Given the description of an element on the screen output the (x, y) to click on. 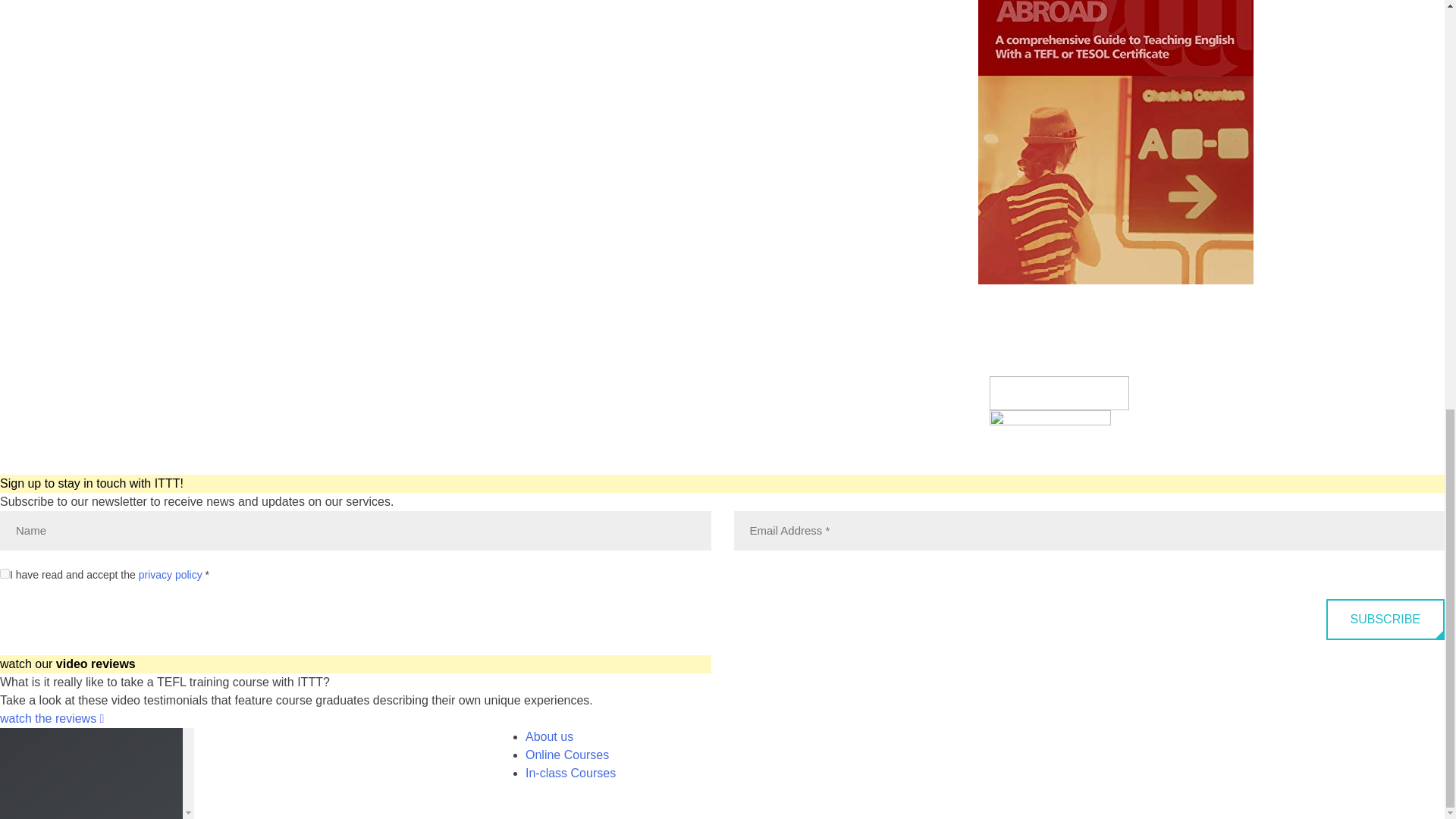
1 (5, 573)
